Given the description of an element on the screen output the (x, y) to click on. 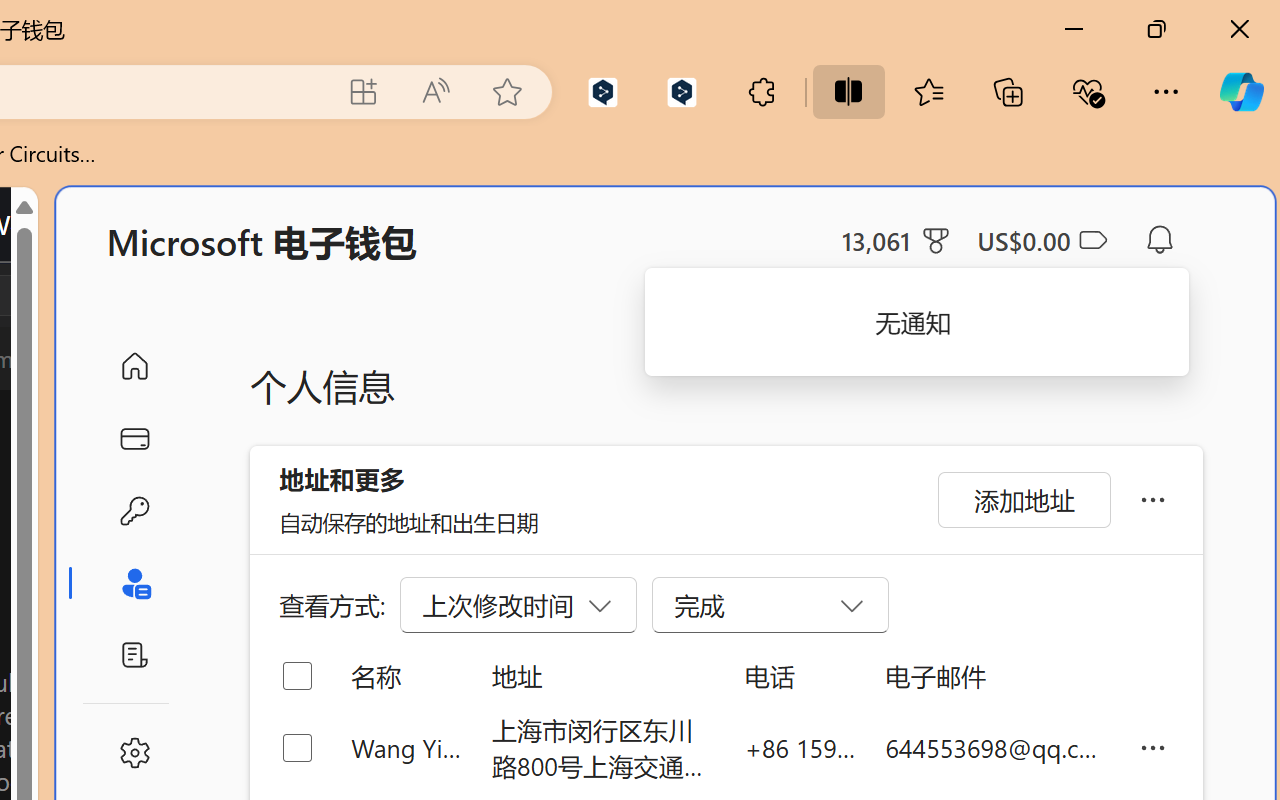
Wang Yian (406, 747)
